Given the description of an element on the screen output the (x, y) to click on. 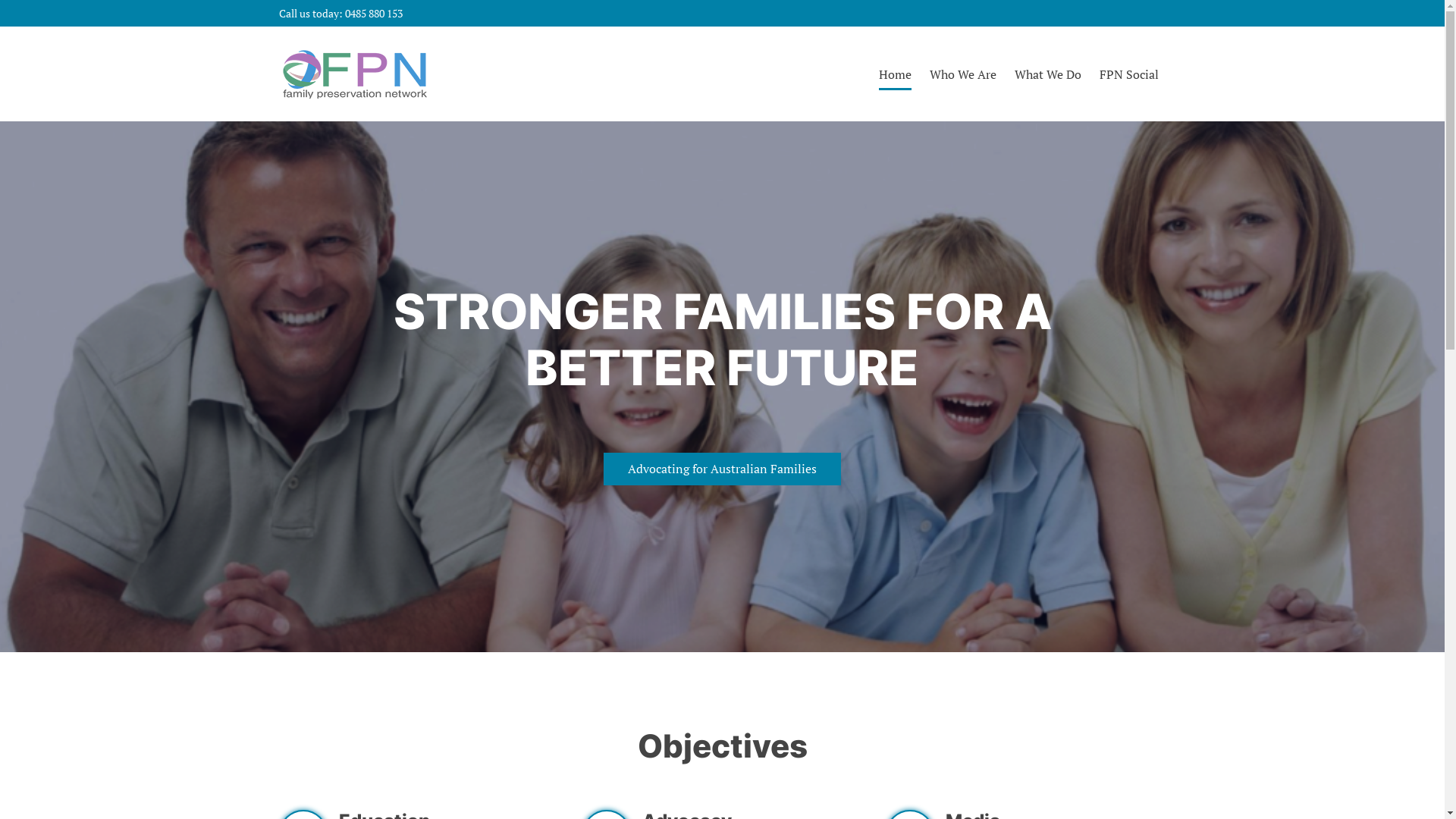
Who We Are Element type: text (962, 73)
FPN Social Element type: text (1128, 73)
What We Do Element type: text (1047, 73)
Advocating for Australian Families Element type: text (721, 468)
Home Element type: text (894, 73)
